Given the description of an element on the screen output the (x, y) to click on. 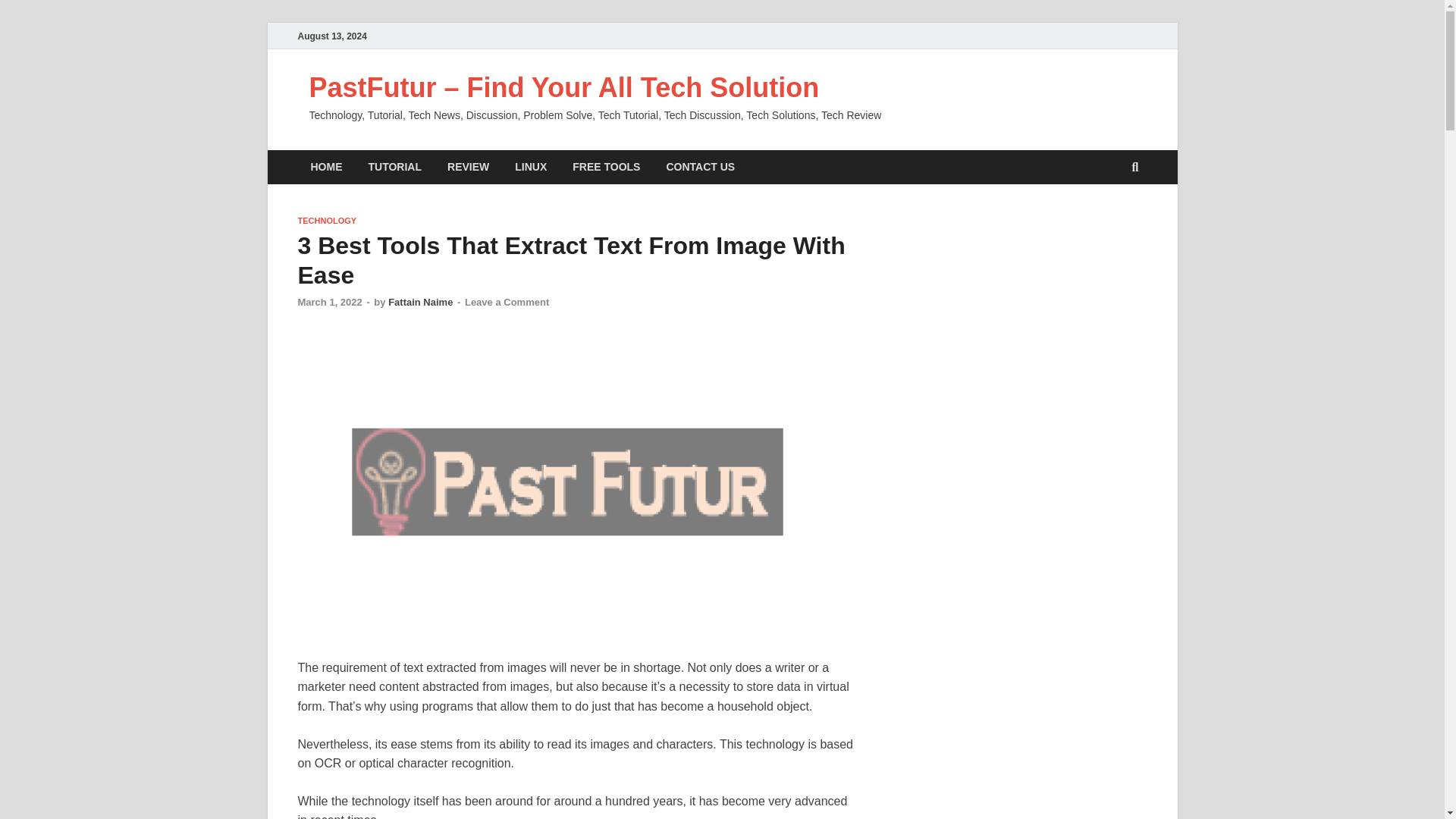
TECHNOLOGY (326, 220)
Contract Us (700, 166)
Leave a Comment (506, 301)
CONTACT US (700, 166)
HOME (326, 166)
Linux (530, 166)
Home (326, 166)
Tutorial (394, 166)
FREE TOOLS (605, 166)
REVIEW (467, 166)
